Given the description of an element on the screen output the (x, y) to click on. 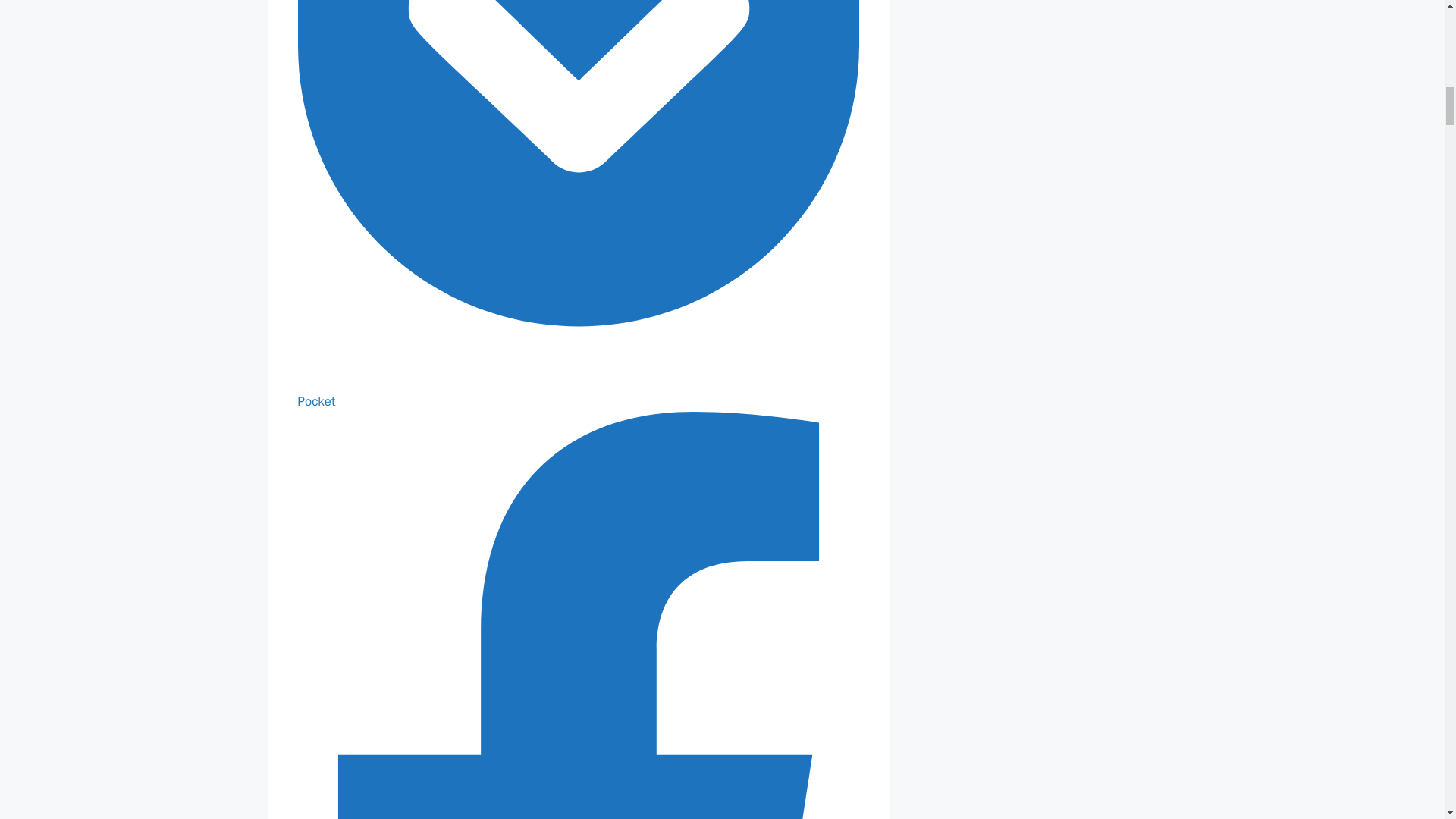
Pocket (578, 392)
